Given the description of an element on the screen output the (x, y) to click on. 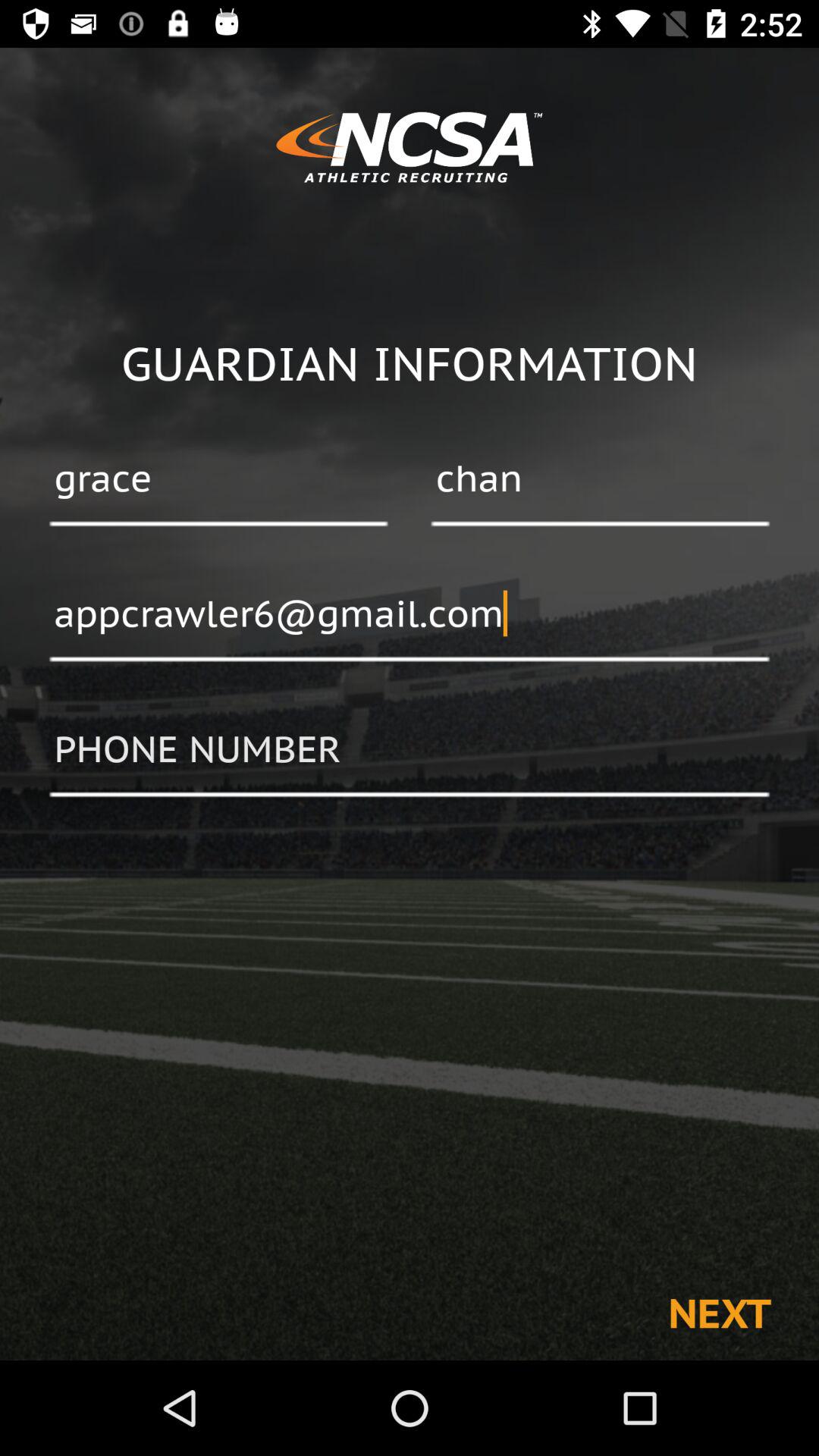
launch the icon below appcrawler6@gmail.com item (409, 750)
